Given the description of an element on the screen output the (x, y) to click on. 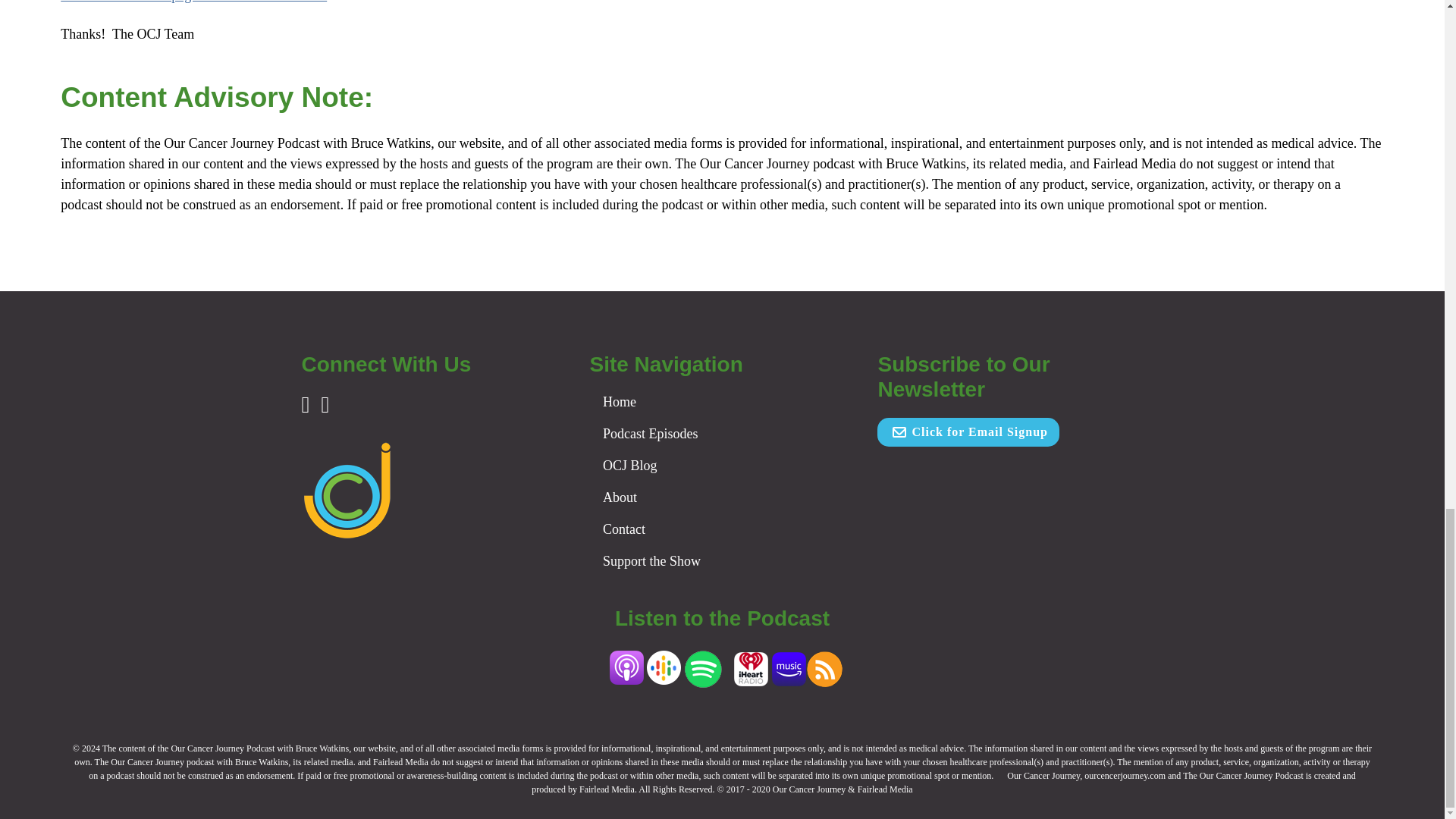
Support the Show (651, 560)
Contact (623, 529)
Podcast Episodes (650, 433)
About (619, 497)
OCJ Blog (630, 465)
Home (619, 401)
Click for Email Signup (968, 431)
